Given the description of an element on the screen output the (x, y) to click on. 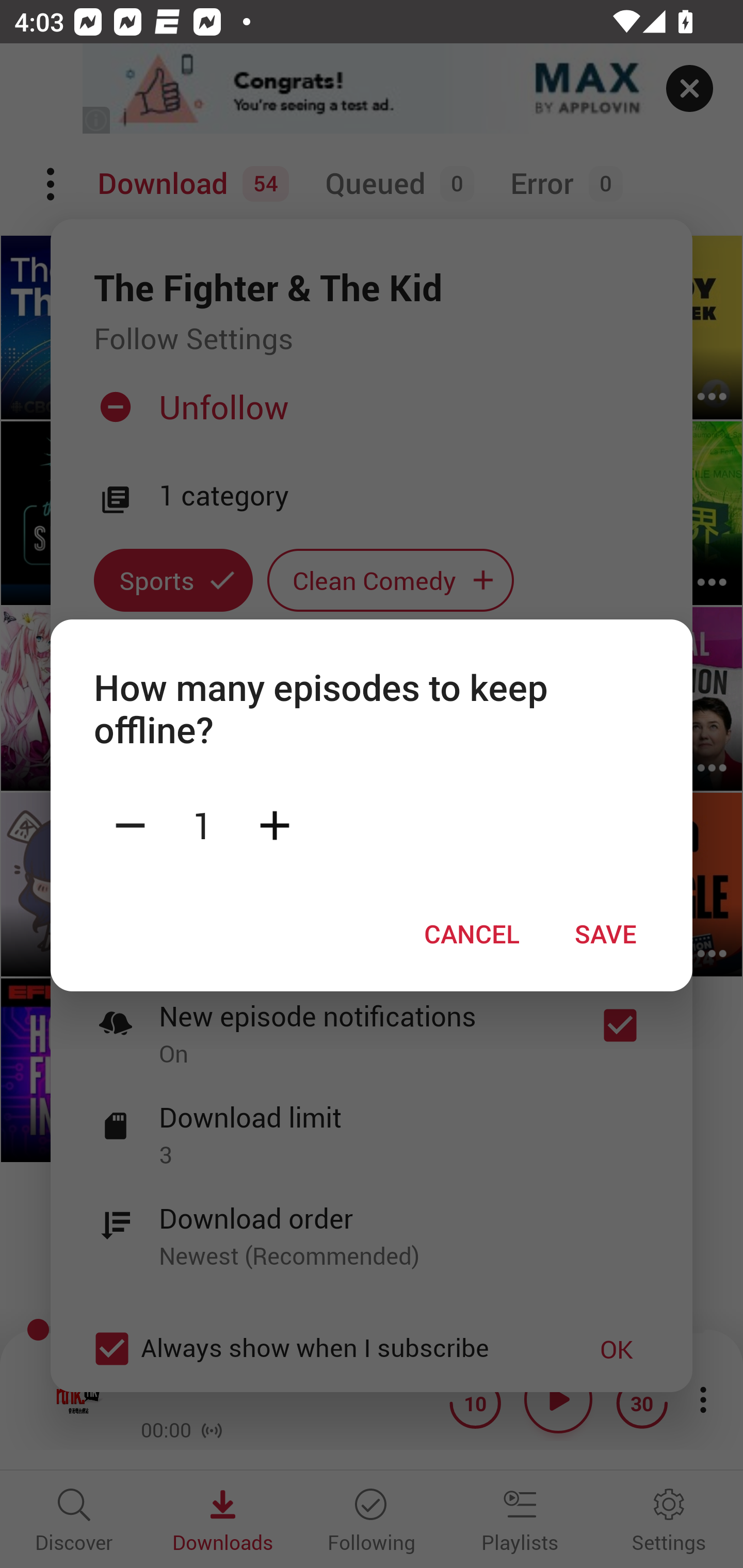
Minus (129, 824)
Plus (274, 824)
CANCEL (470, 933)
SAVE (605, 933)
